Given the description of an element on the screen output the (x, y) to click on. 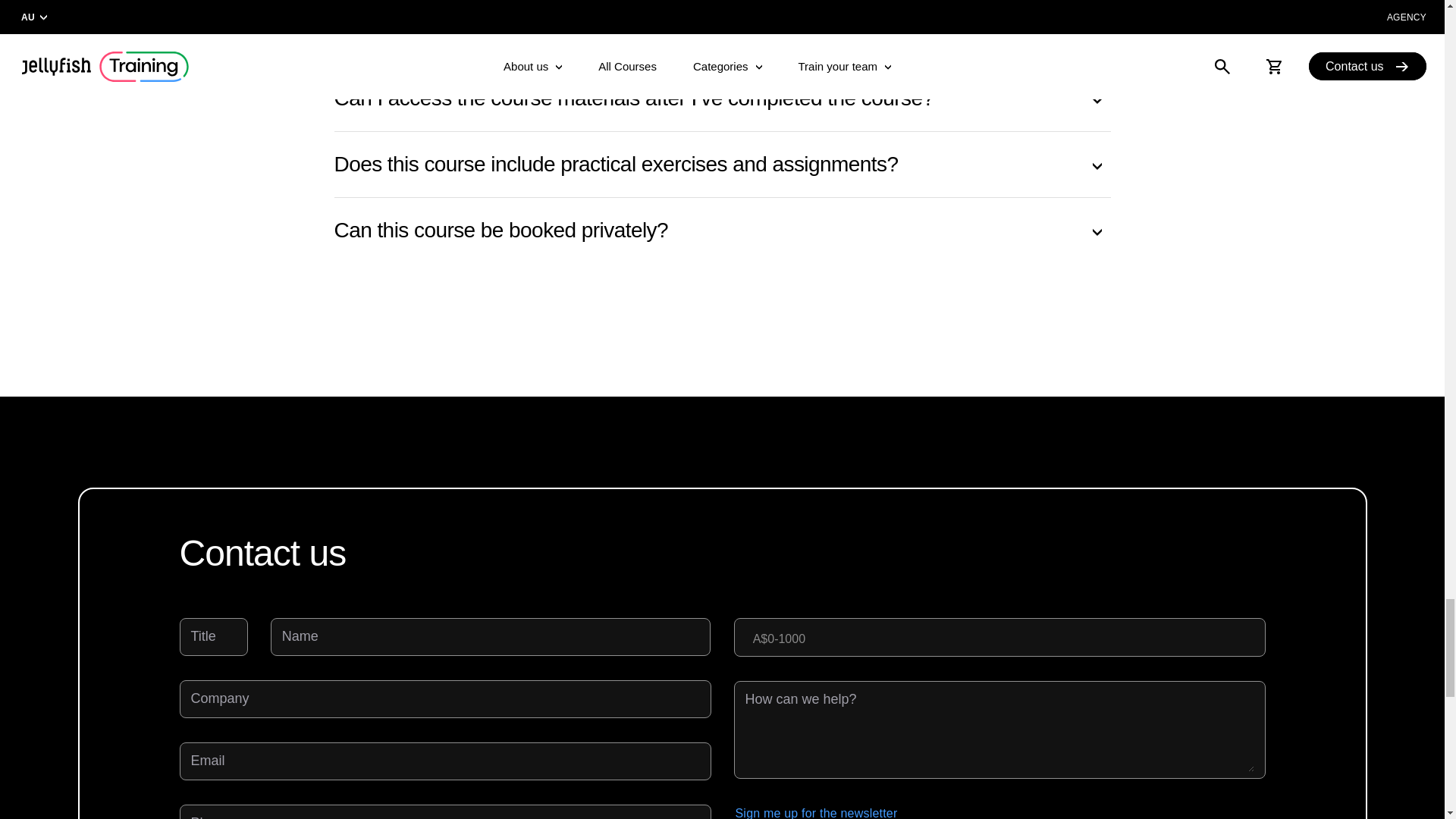
How can we help? (998, 729)
Title (212, 636)
What is your planned budget? (998, 636)
Company (445, 699)
Name (491, 636)
Phone (445, 815)
Email (445, 761)
